Given the description of an element on the screen output the (x, y) to click on. 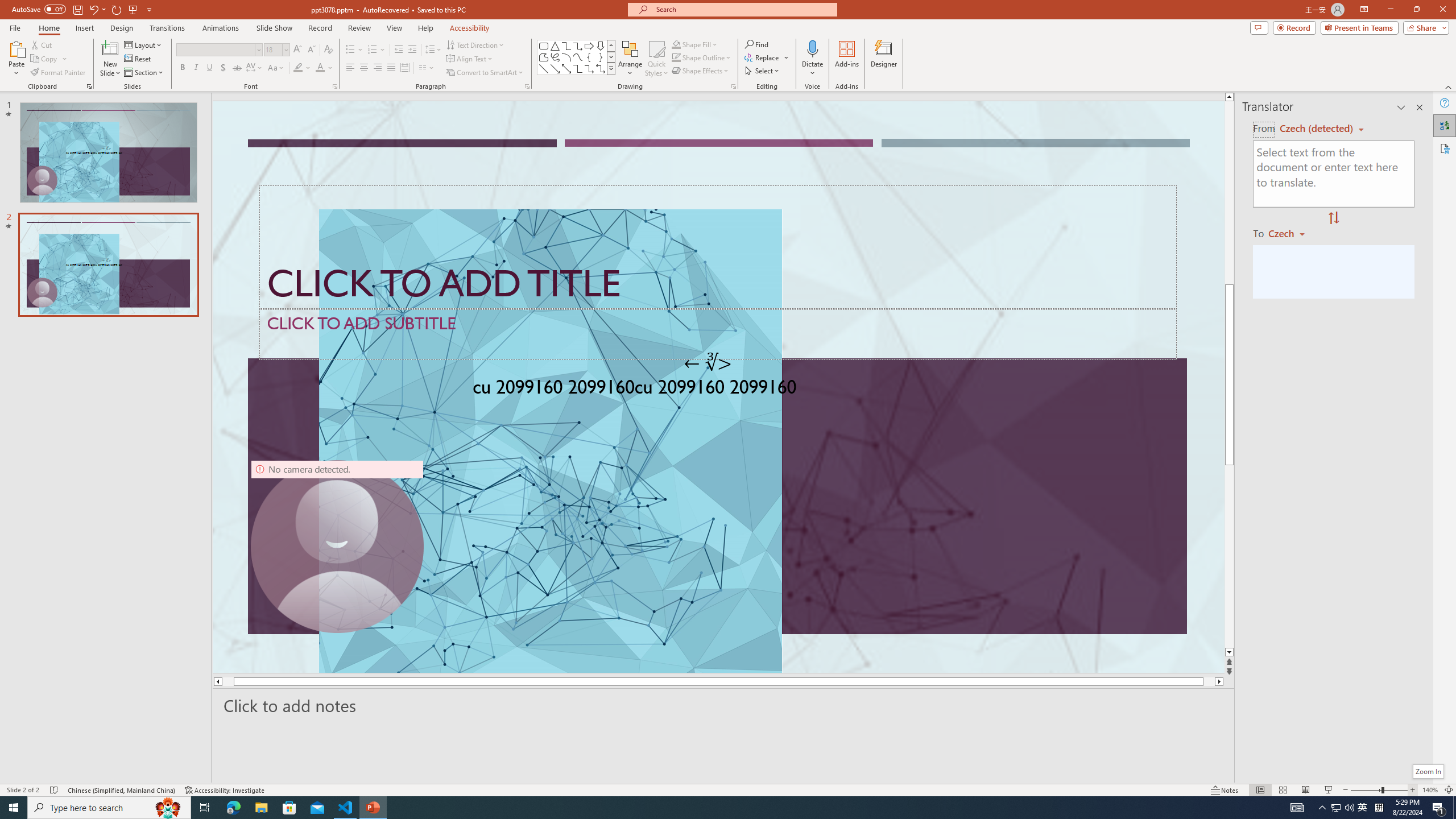
Czech (1291, 232)
Swap "from" and "to" languages. (1333, 218)
Zoom 140% (1430, 790)
Line Arrow: Double (566, 68)
